Given the description of an element on the screen output the (x, y) to click on. 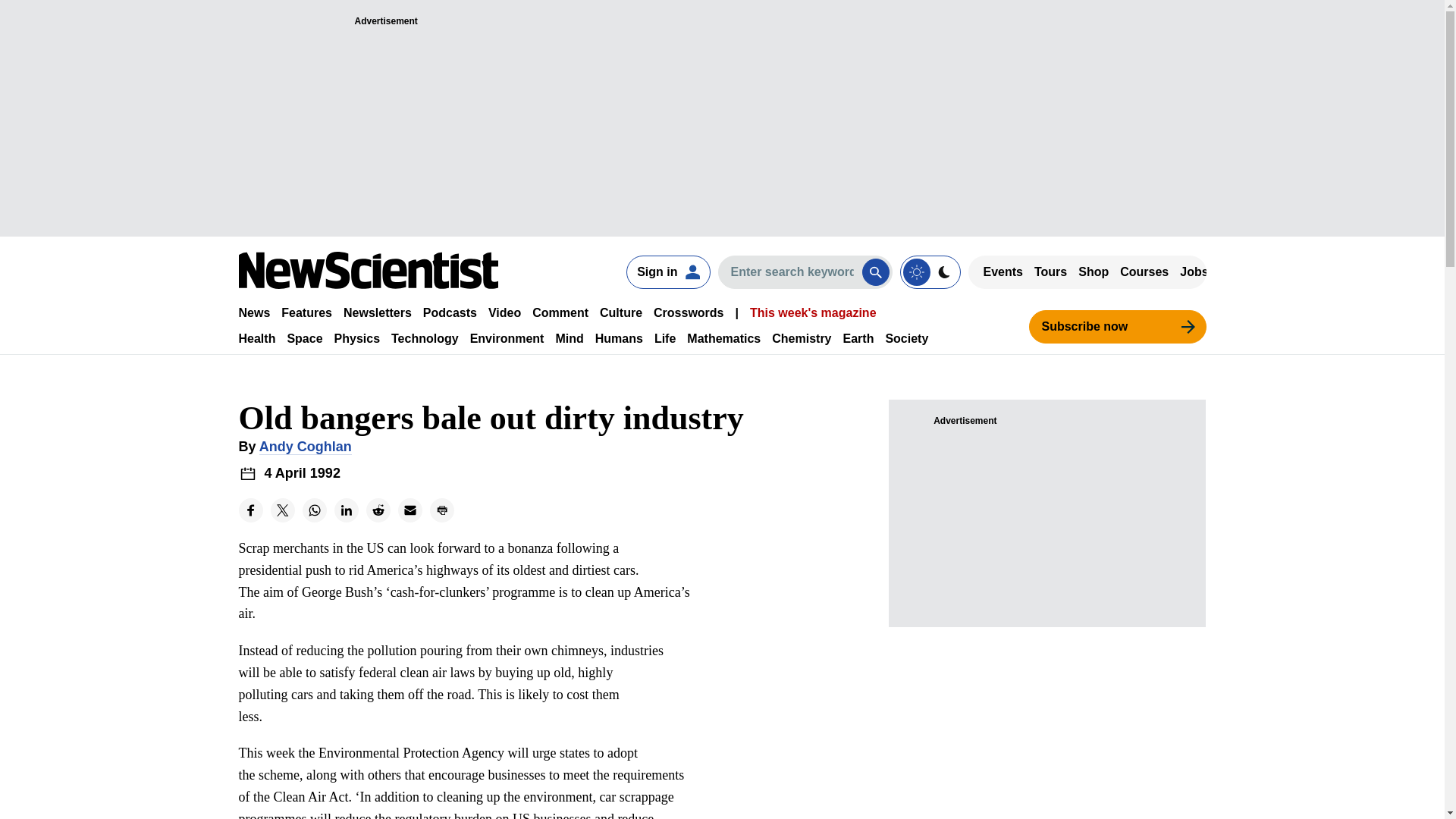
Comment (560, 313)
This week's magazine (812, 313)
Health (256, 338)
Video (504, 313)
Features (306, 313)
Tours (1050, 272)
Mathematics (723, 338)
Mind (568, 338)
Calendar icon (247, 473)
Crosswords (688, 313)
Physics (357, 338)
Humans (619, 338)
Space (303, 338)
Earth (859, 338)
Sign in (668, 272)
